Given the description of an element on the screen output the (x, y) to click on. 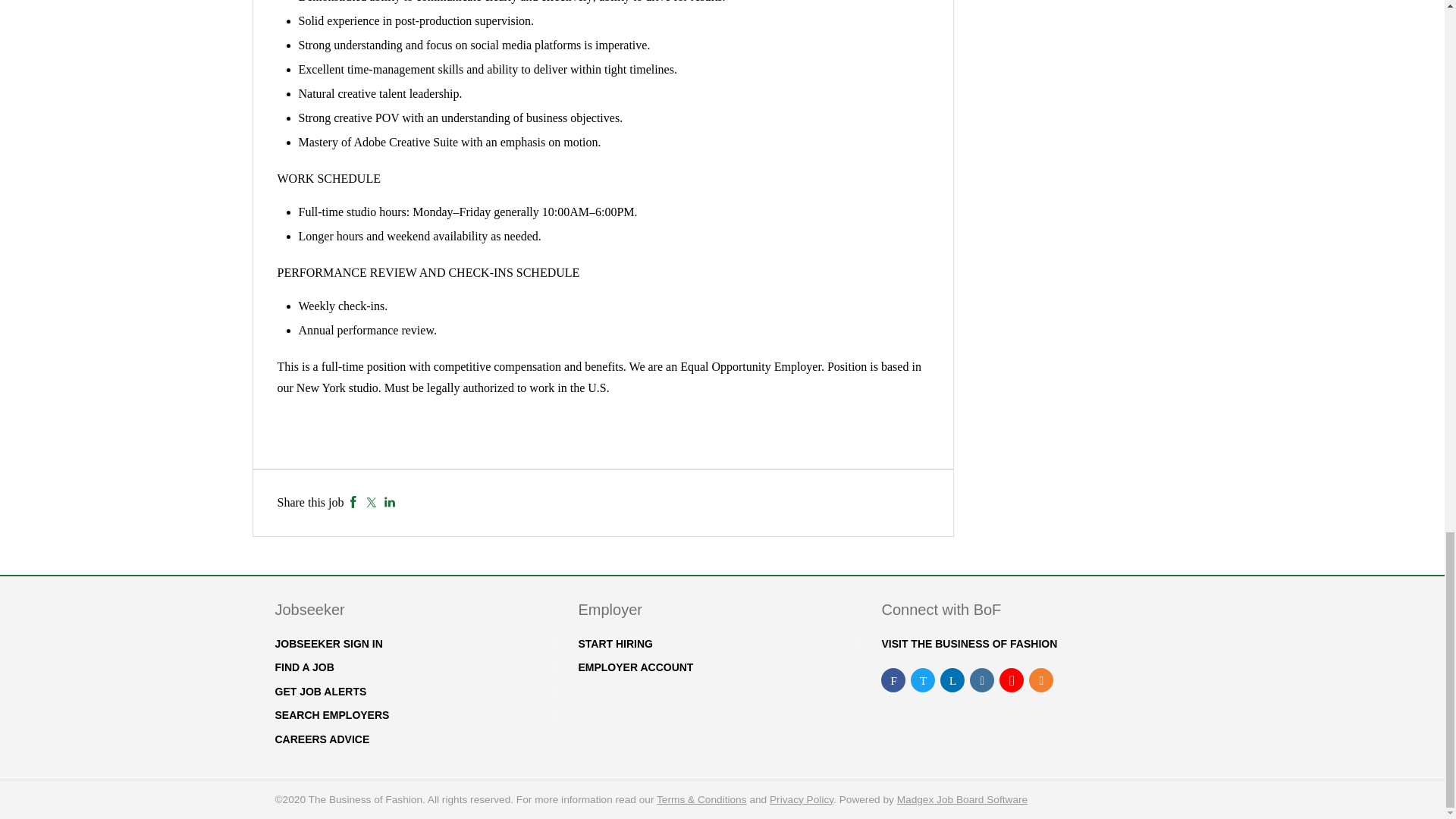
Facebook (353, 502)
FIND A JOB (304, 666)
LinkedIn (390, 502)
Twitter (371, 502)
JOBSEEKER SIGN IN (328, 644)
